Given the description of an element on the screen output the (x, y) to click on. 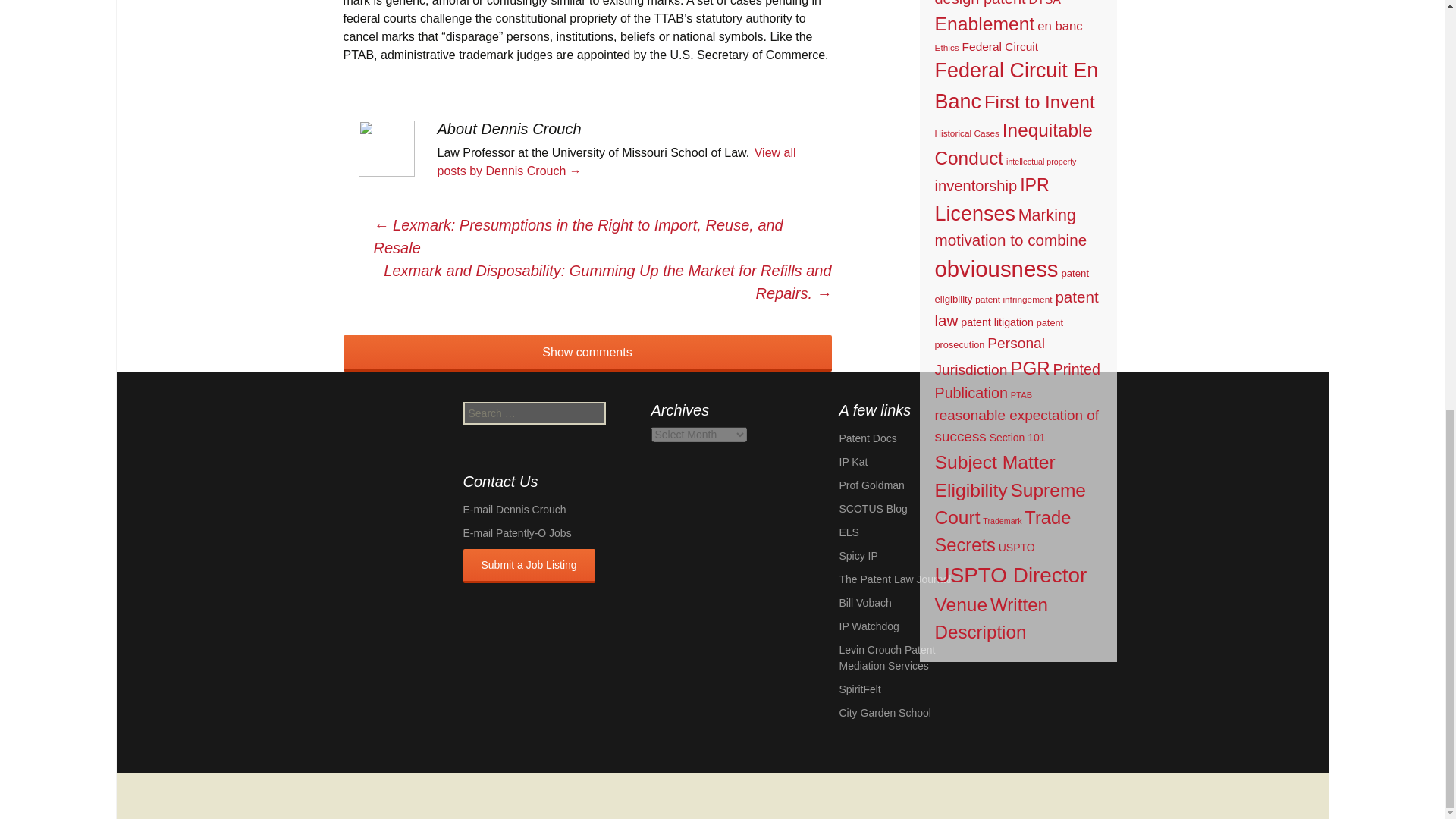
Show comments (586, 352)
